Given the description of an element on the screen output the (x, y) to click on. 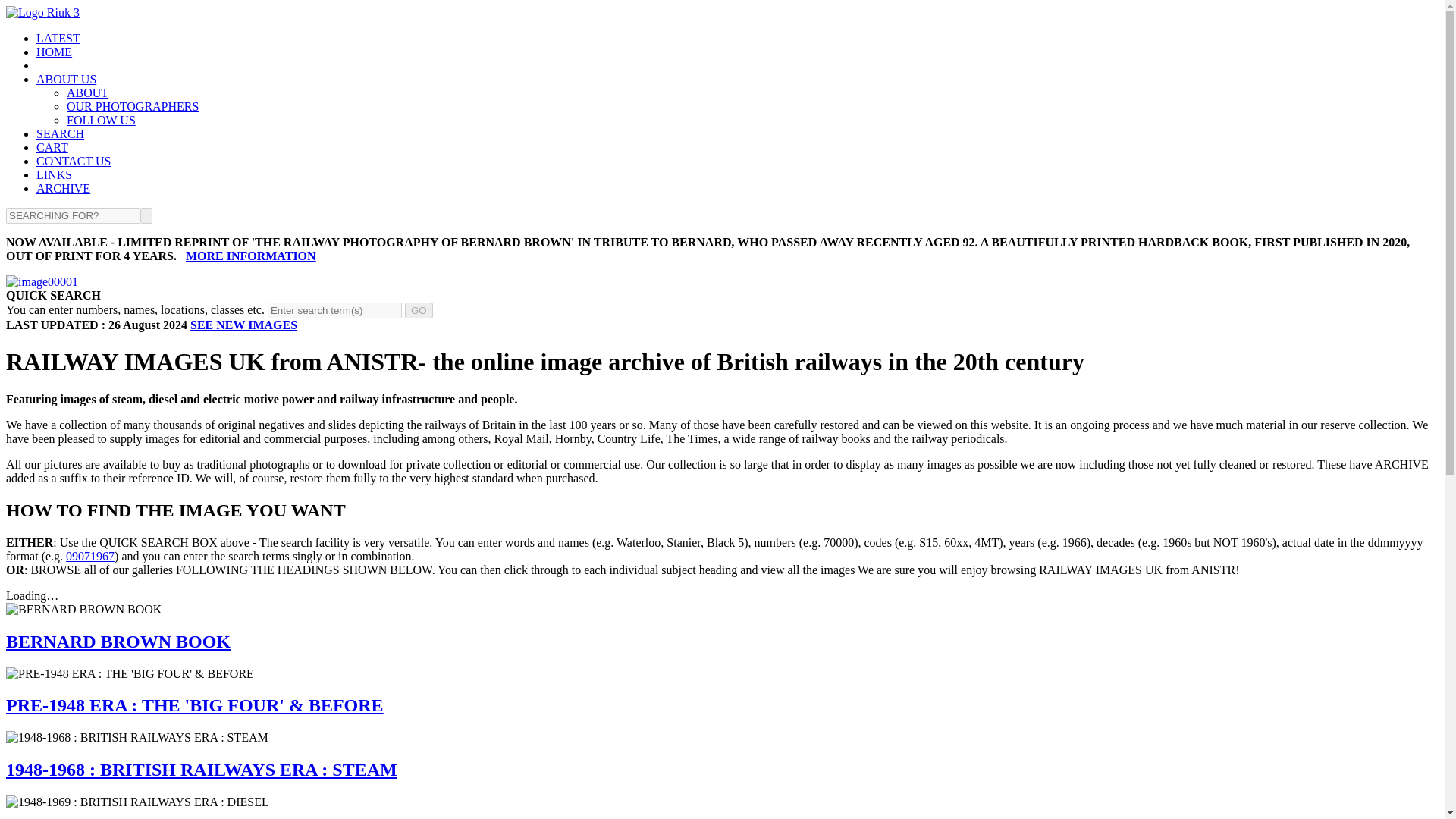
OUR PHOTOGRAPHERS (132, 106)
ARCHIVE (63, 187)
MORE INFORMATION (250, 255)
GO (418, 310)
CONTACT US (73, 160)
LINKS (53, 174)
ABOUT US (66, 78)
SEARCH (60, 133)
HOME (53, 51)
GO (418, 310)
